Given the description of an element on the screen output the (x, y) to click on. 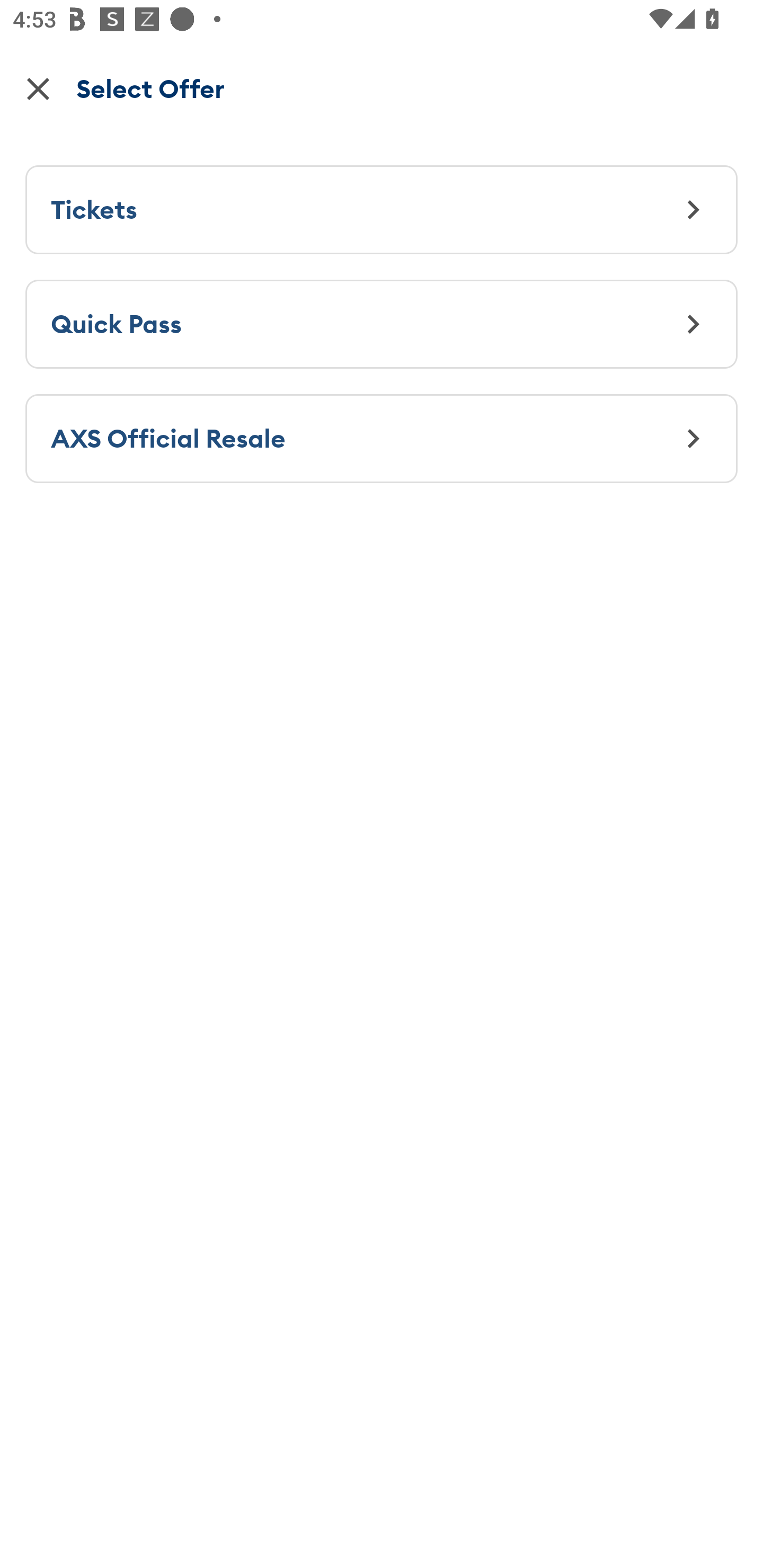
Close (38, 88)
Tickets (381, 209)
Quick Pass (381, 323)
AXS Official Resale (381, 437)
